Given the description of an element on the screen output the (x, y) to click on. 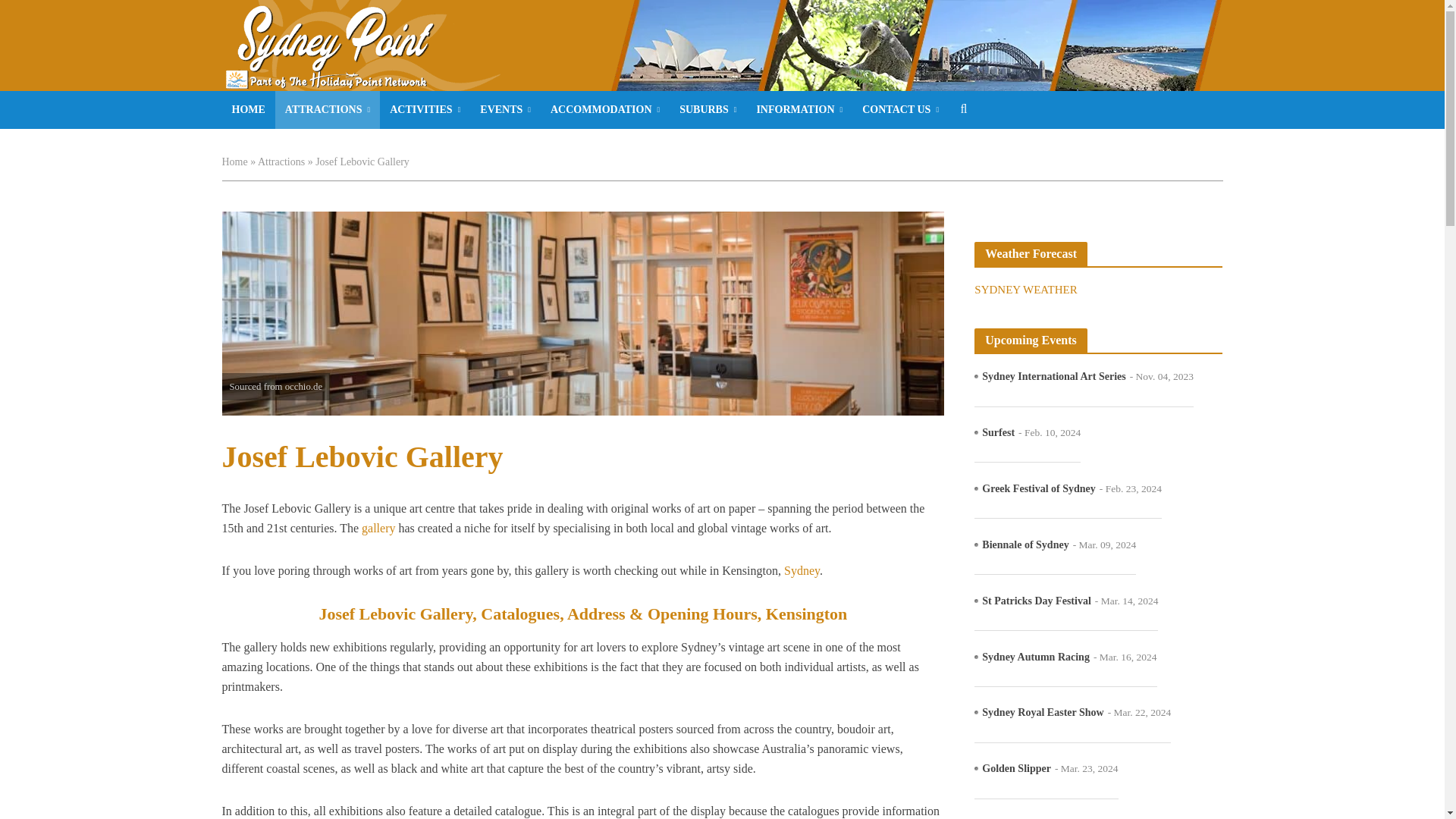
HOME (248, 109)
ATTRACTIONS (327, 109)
